Given the description of an element on the screen output the (x, y) to click on. 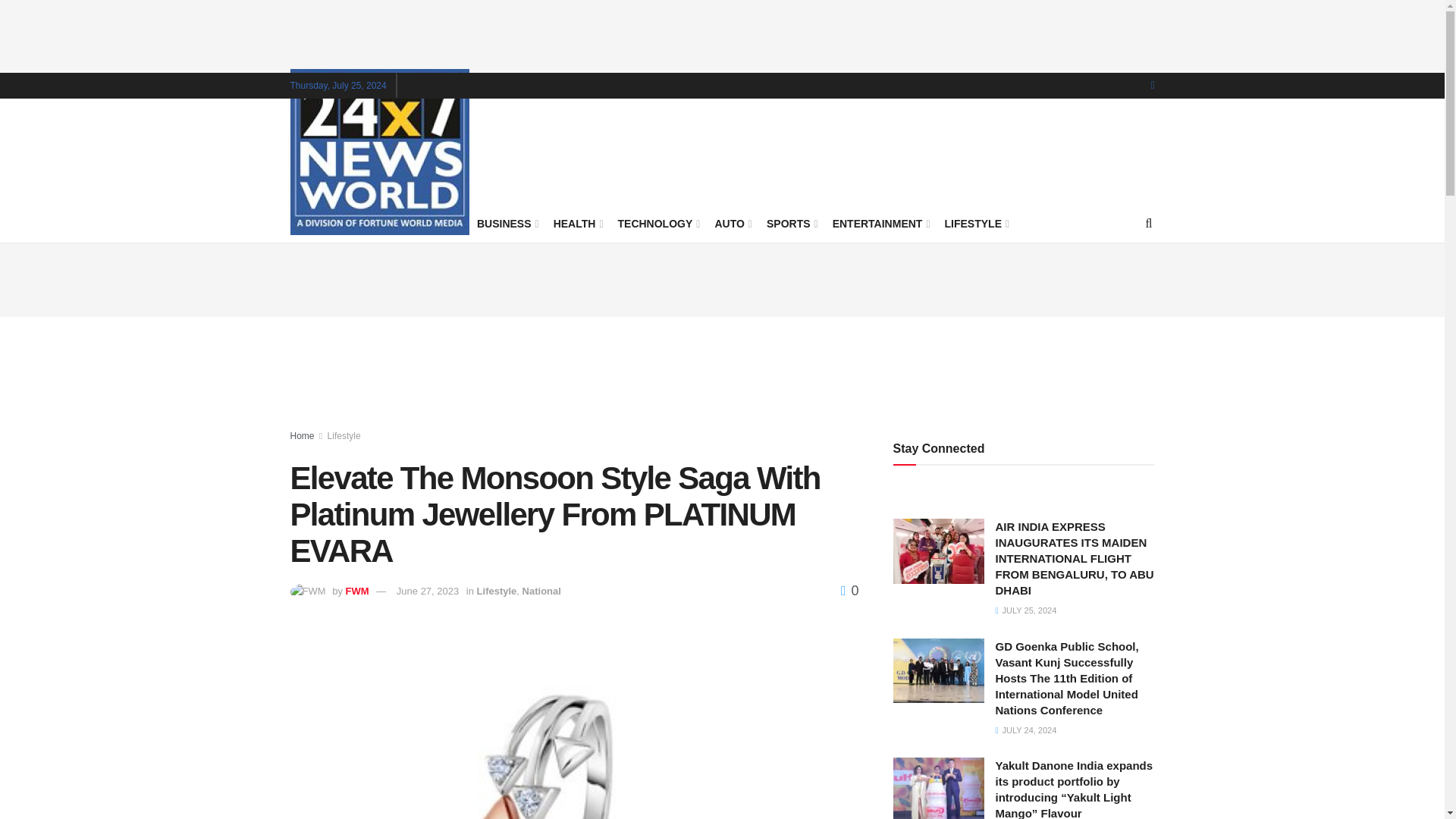
Advertisement (878, 149)
Advertisement (722, 33)
HOME (305, 223)
NATIONAL (430, 223)
BUSINESS (507, 223)
WORLD (360, 223)
Advertisement (722, 277)
Advertisement (722, 373)
HEALTH (577, 223)
